Given the description of an element on the screen output the (x, y) to click on. 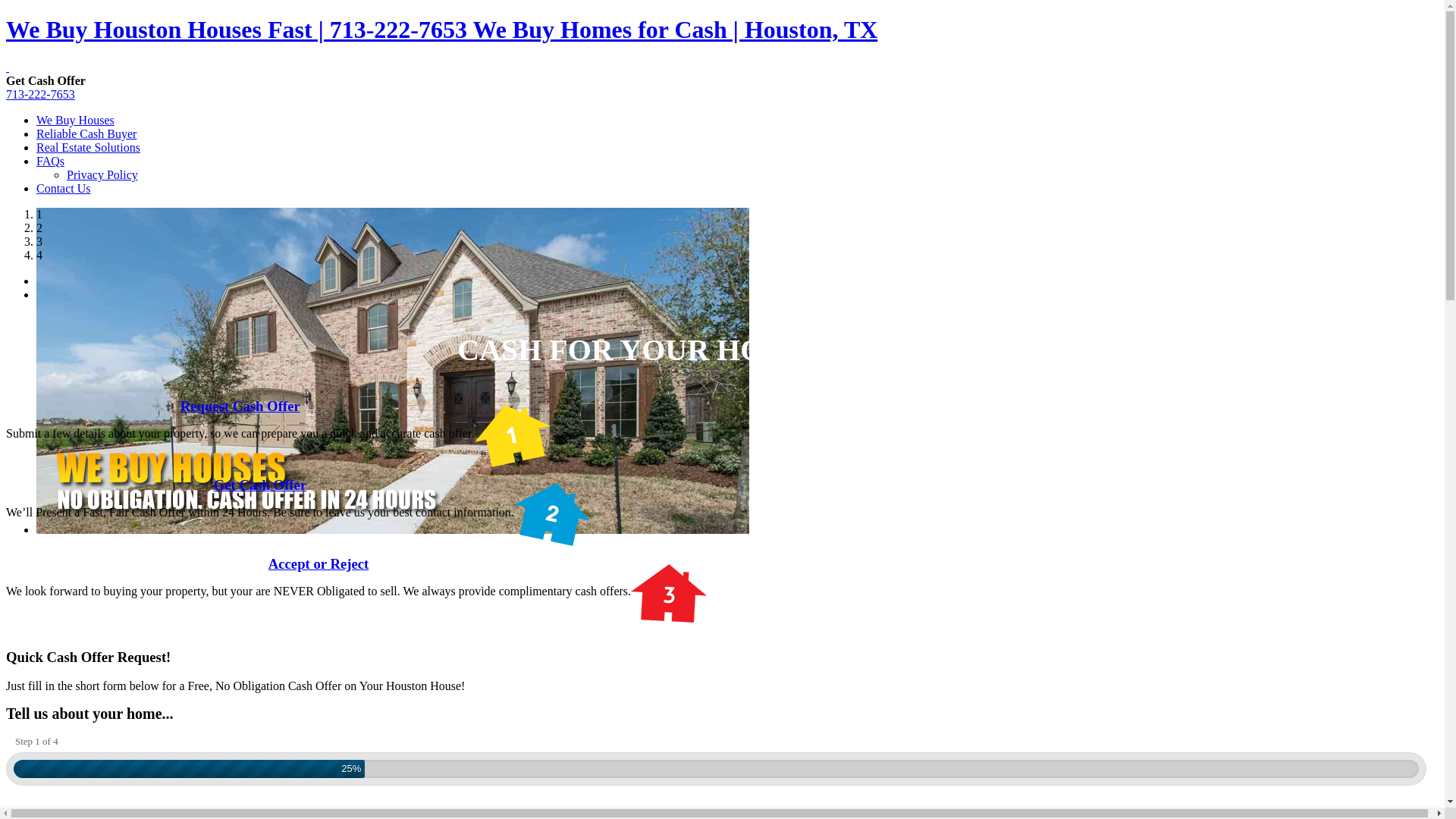
  Element type: text (7, 66)
Reliable Cash Buyer Element type: text (86, 133)
Real Estate Solutions Element type: text (88, 147)
713-222-7653 Element type: text (40, 93)
Request Cash Offer Element type: text (240, 406)
4 Element type: text (39, 254)
Privacy Policy Element type: text (102, 174)
1 Element type: text (39, 213)
FAQs Element type: text (50, 160)
Accept or Reject Element type: text (318, 563)
2 Element type: text (39, 227)
Contact Us Element type: text (63, 188)
Get Cash Offer Element type: text (260, 484)
3 Element type: text (39, 241)
We Buy Houses Element type: text (75, 119)
